Given the description of an element on the screen output the (x, y) to click on. 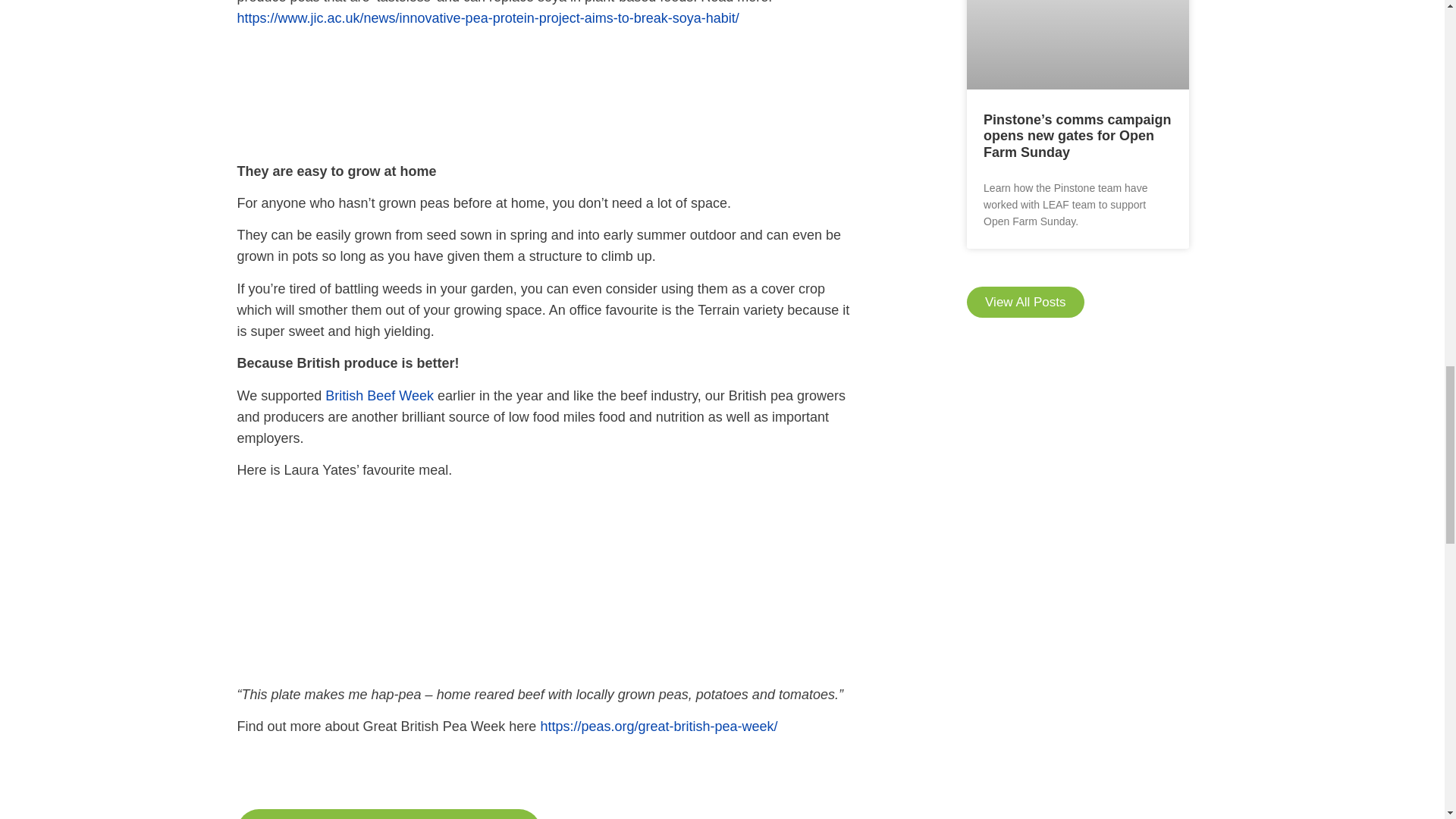
Home grown British Peas (546, 92)
